Given the description of an element on the screen output the (x, y) to click on. 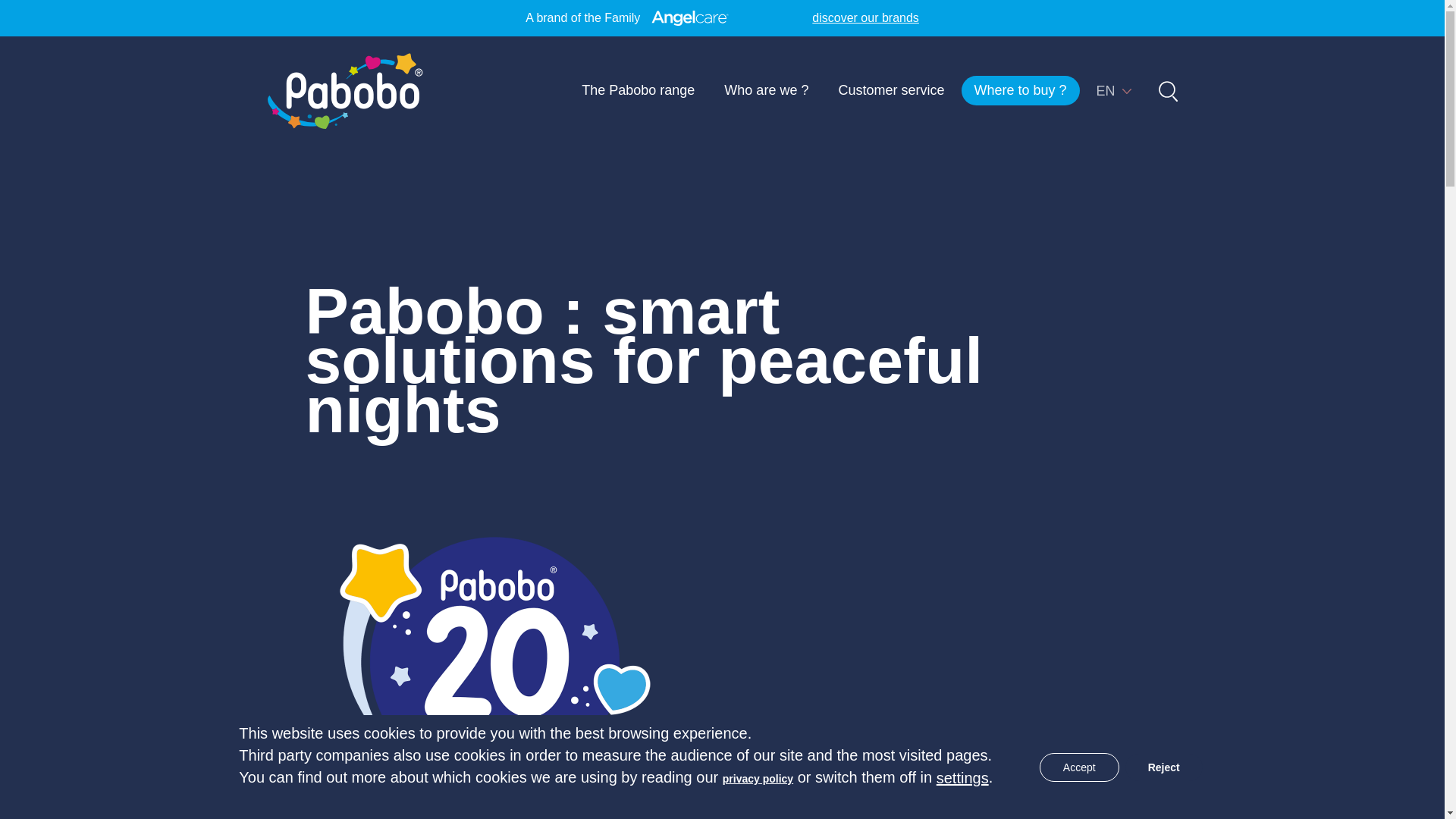
Who are we ? (766, 90)
Customer service (890, 90)
The Pabobo range (638, 90)
discover our brands (865, 18)
Where to buy ? (1020, 90)
